Given the description of an element on the screen output the (x, y) to click on. 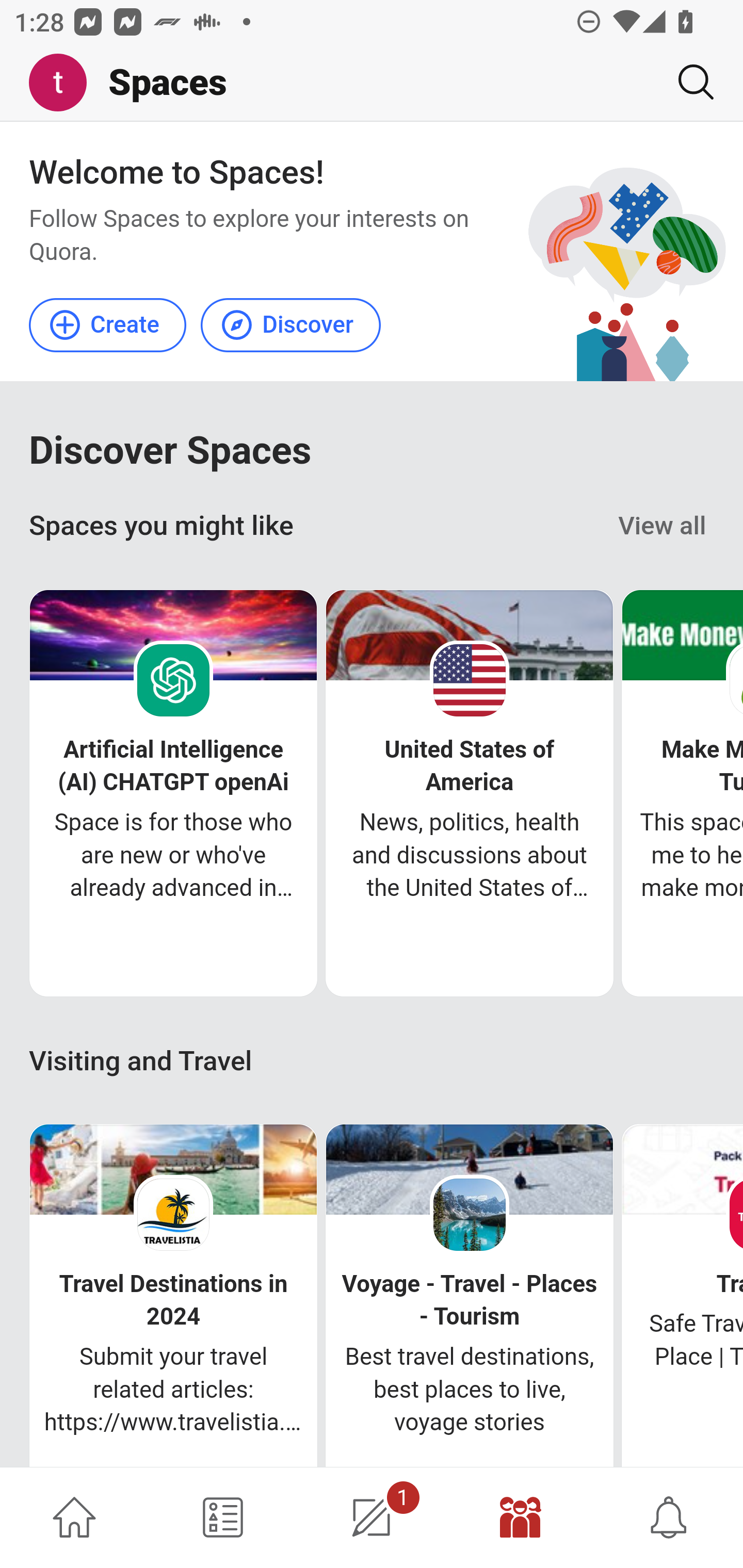
Me Spaces Search (371, 82)
Me (64, 83)
Search (688, 82)
Create (107, 324)
Discover (289, 324)
View all (662, 525)
Artificial Intelligence (AI) CHATGPT openAi (173, 766)
United States of America (469, 766)
Travel Destinations in 2024 (173, 1300)
Voyage - Travel - Places - Tourism (469, 1300)
1 (371, 1517)
